Given the description of an element on the screen output the (x, y) to click on. 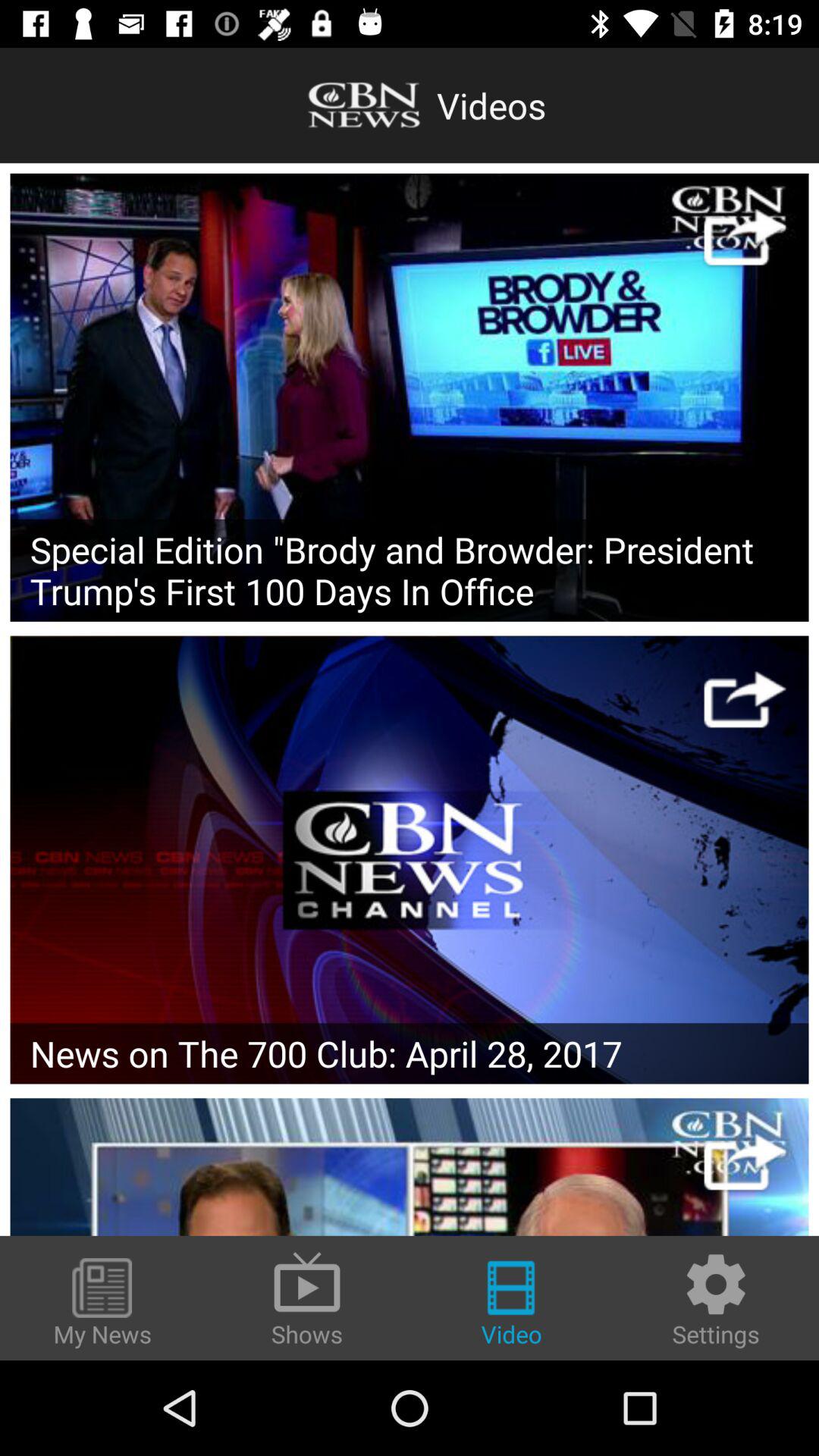
play video selection option (409, 397)
